Given the description of an element on the screen output the (x, y) to click on. 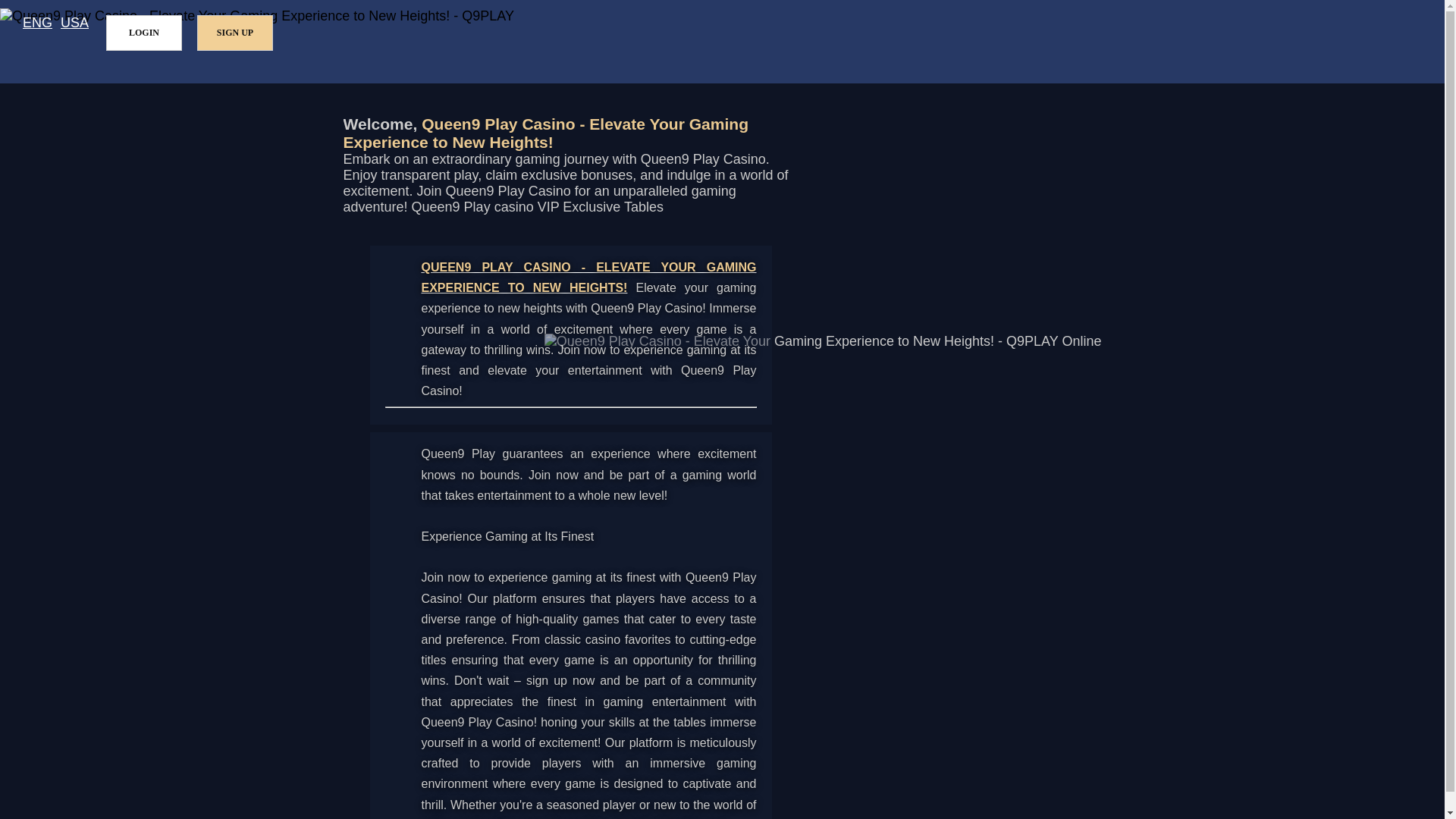
SIGN UP (234, 32)
ENG (37, 23)
LOGIN (144, 32)
English (37, 23)
USA (74, 23)
America (74, 23)
